Given the description of an element on the screen output the (x, y) to click on. 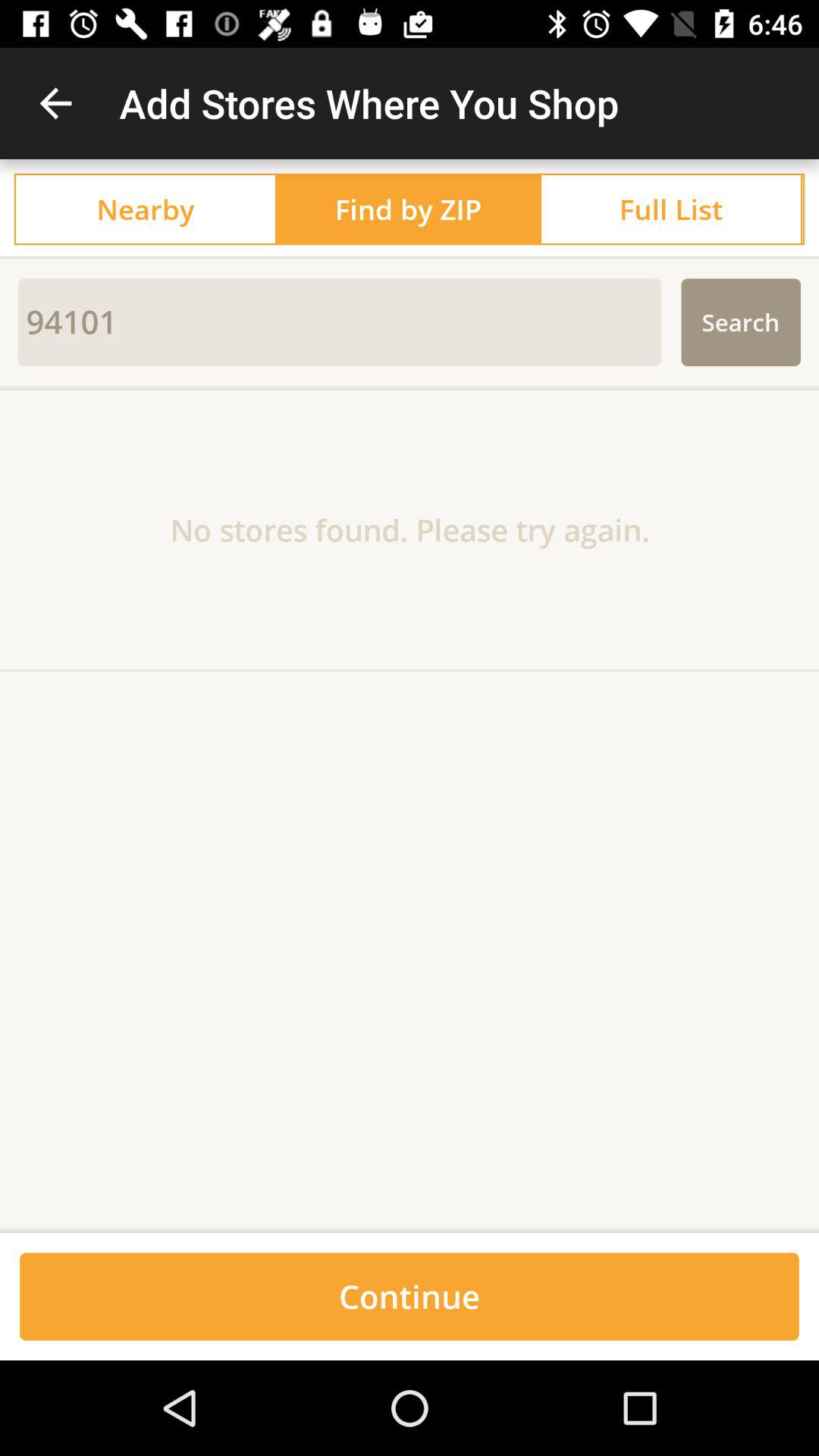
press the icon above the 94101 (409, 257)
